Given the description of an element on the screen output the (x, y) to click on. 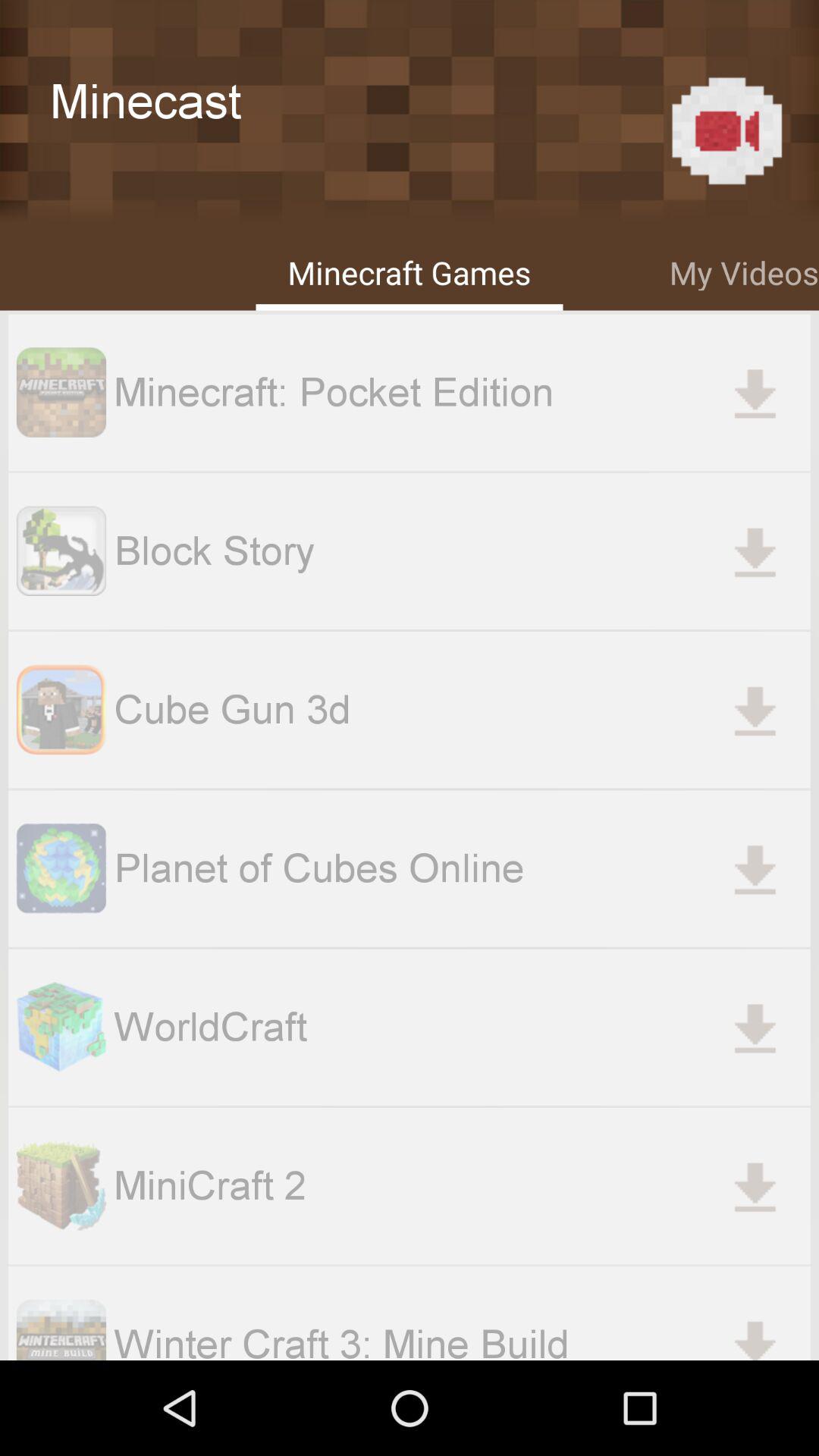
click item to the right of minecraft games (744, 270)
